Given the description of an element on the screen output the (x, y) to click on. 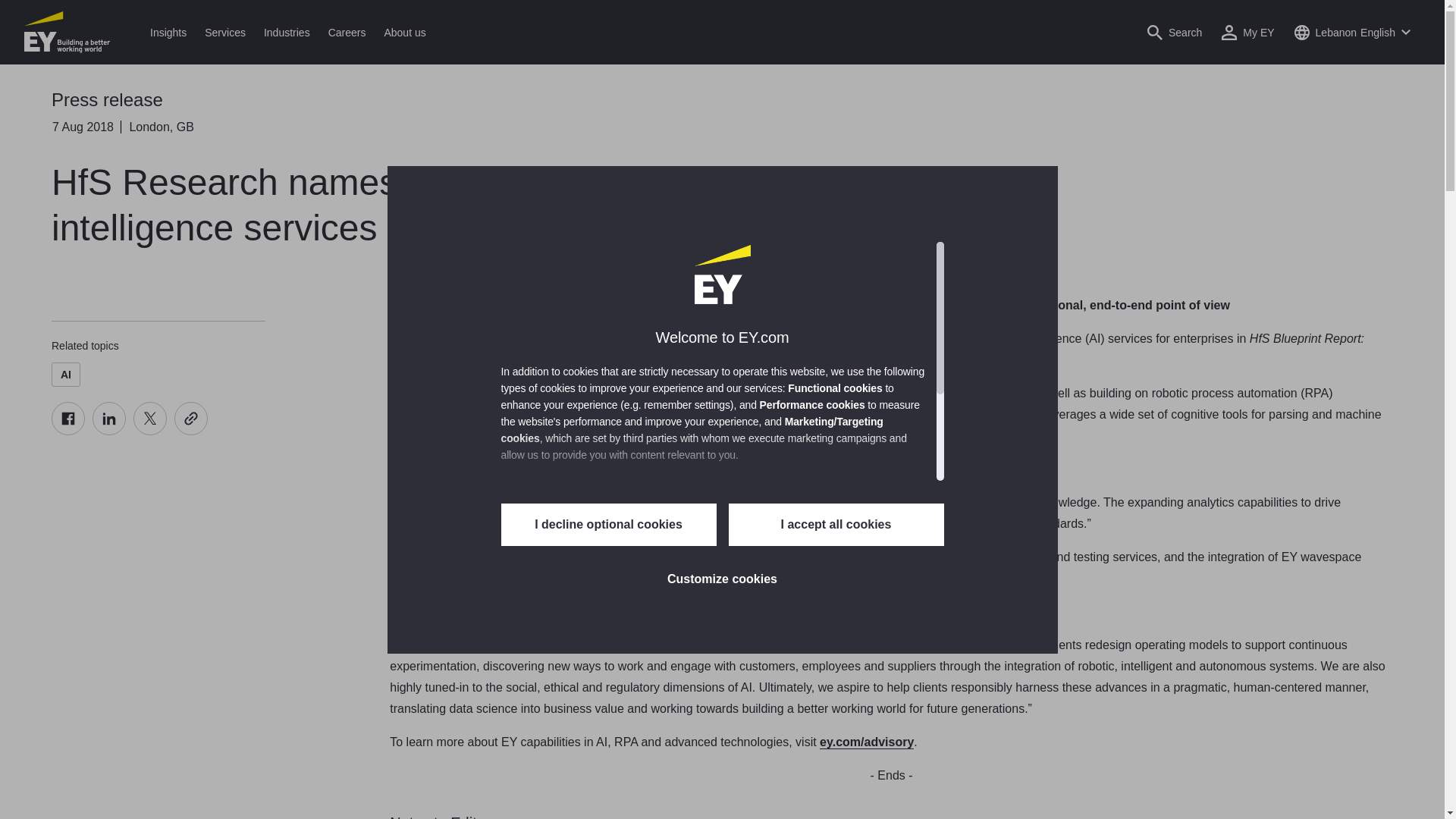
Open search (1173, 32)
Linkedin (109, 418)
Copy link (191, 418)
My EY (1247, 32)
Open country language switcher (1351, 32)
EY Homepage (67, 32)
Facebook (67, 418)
Social Media Share (129, 418)
